Given the description of an element on the screen output the (x, y) to click on. 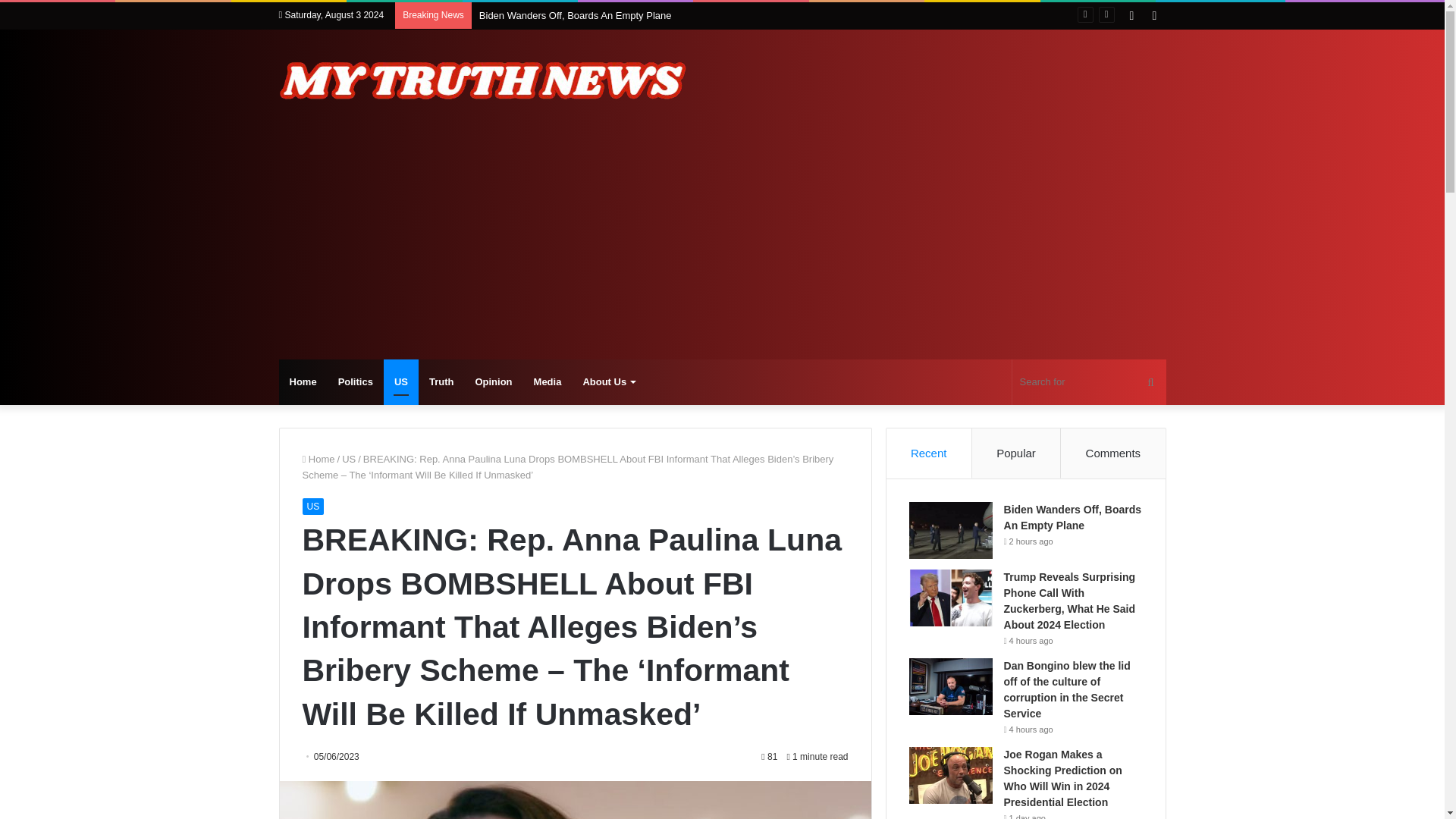
Home (303, 381)
Opinion (493, 381)
Politics (355, 381)
Truth (441, 381)
US (348, 459)
Media (547, 381)
My Truth News (483, 80)
Home (317, 459)
US (312, 506)
